Given the description of an element on the screen output the (x, y) to click on. 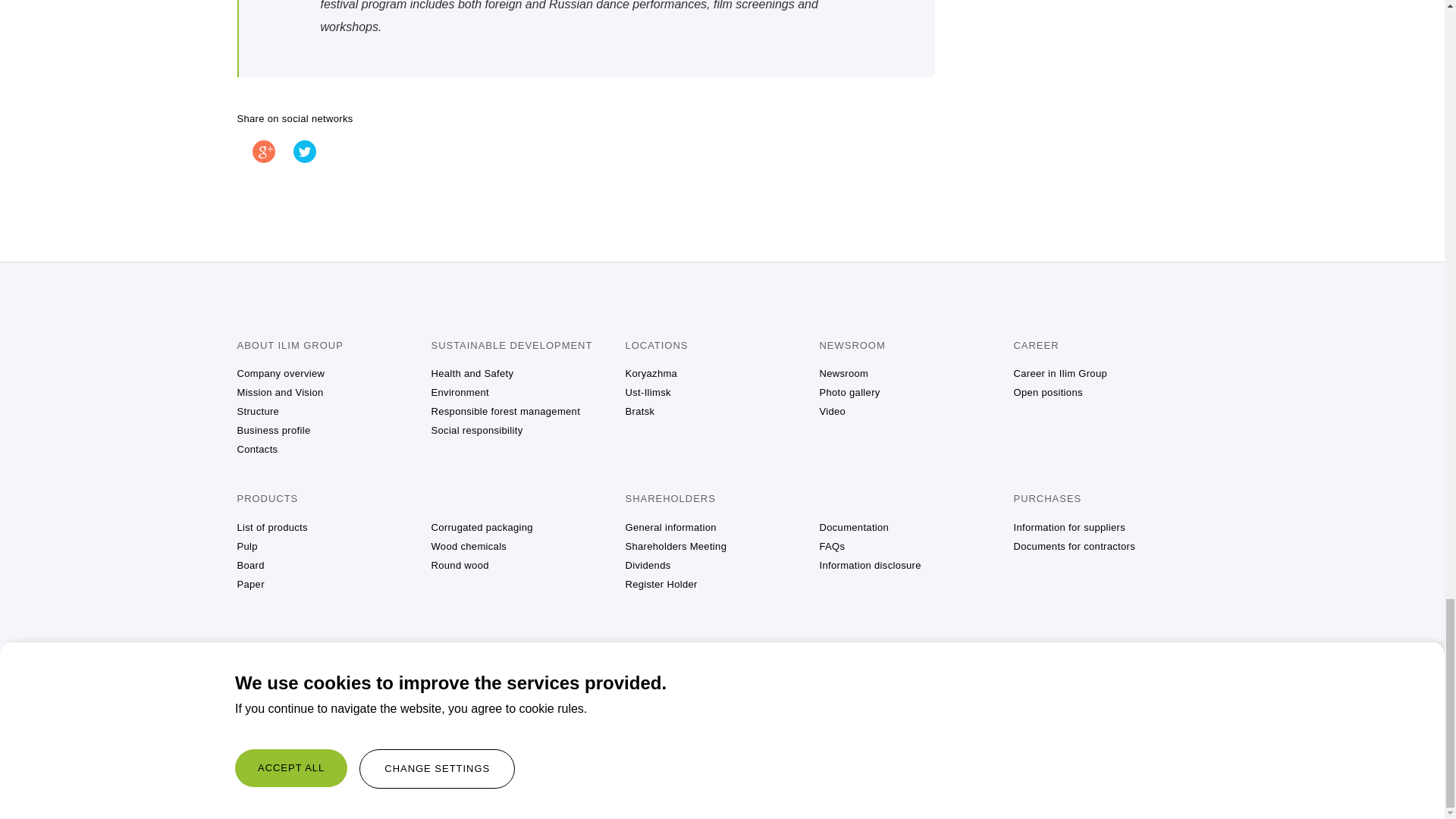
Twitter (304, 151)
